Given the description of an element on the screen output the (x, y) to click on. 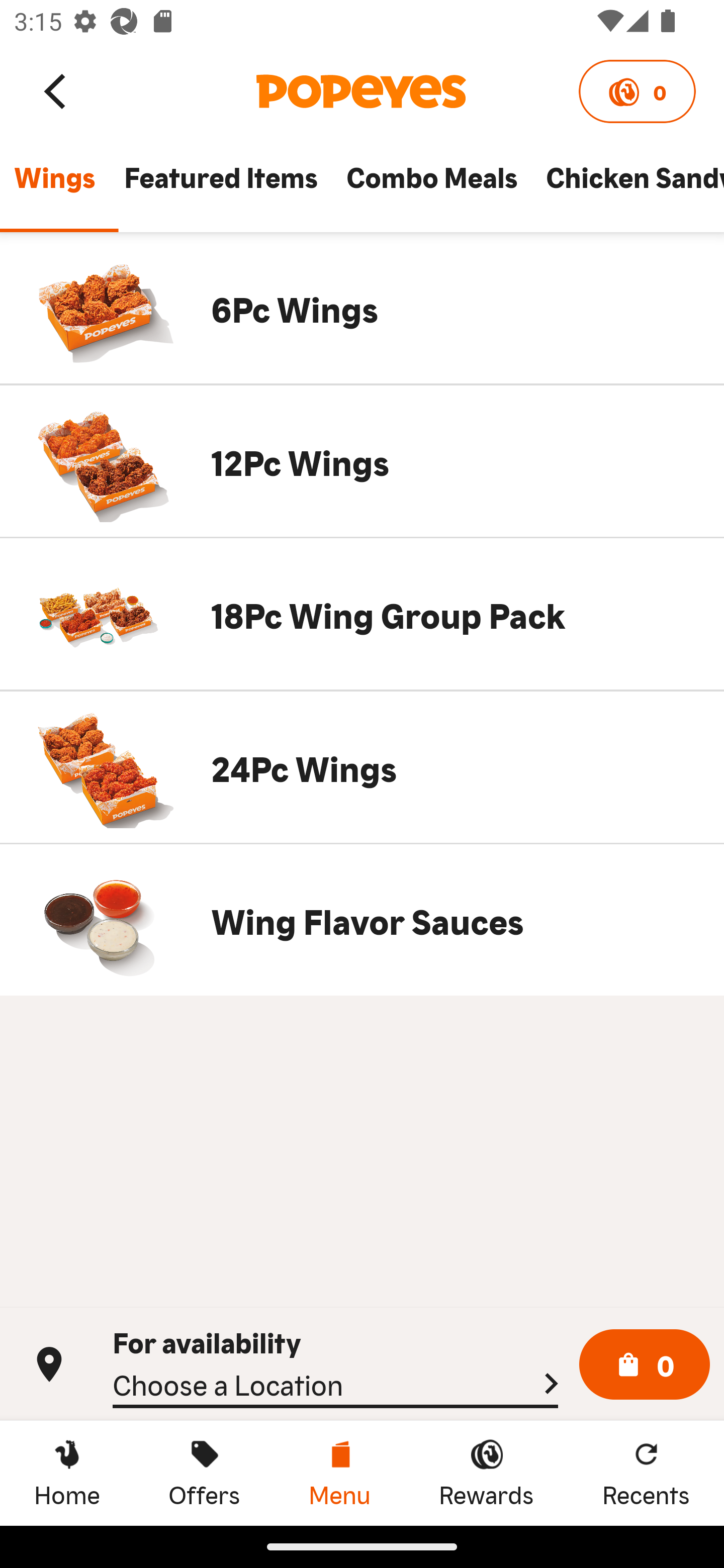
Back (56, 90)
0 Points 0 (636, 91)
Wings (54, 186)
Featured Items (220, 186)
Combo Meals (431, 186)
Chicken Sandwich   (627, 186)
0 Cart total  0 (644, 1364)
Home Home Home (66, 1472)
Offers Offers Offers (203, 1472)
Menu, current page Menu Menu, current page (339, 1472)
Rewards Rewards Rewards (486, 1472)
Recents Recents Recents (646, 1472)
